Given the description of an element on the screen output the (x, y) to click on. 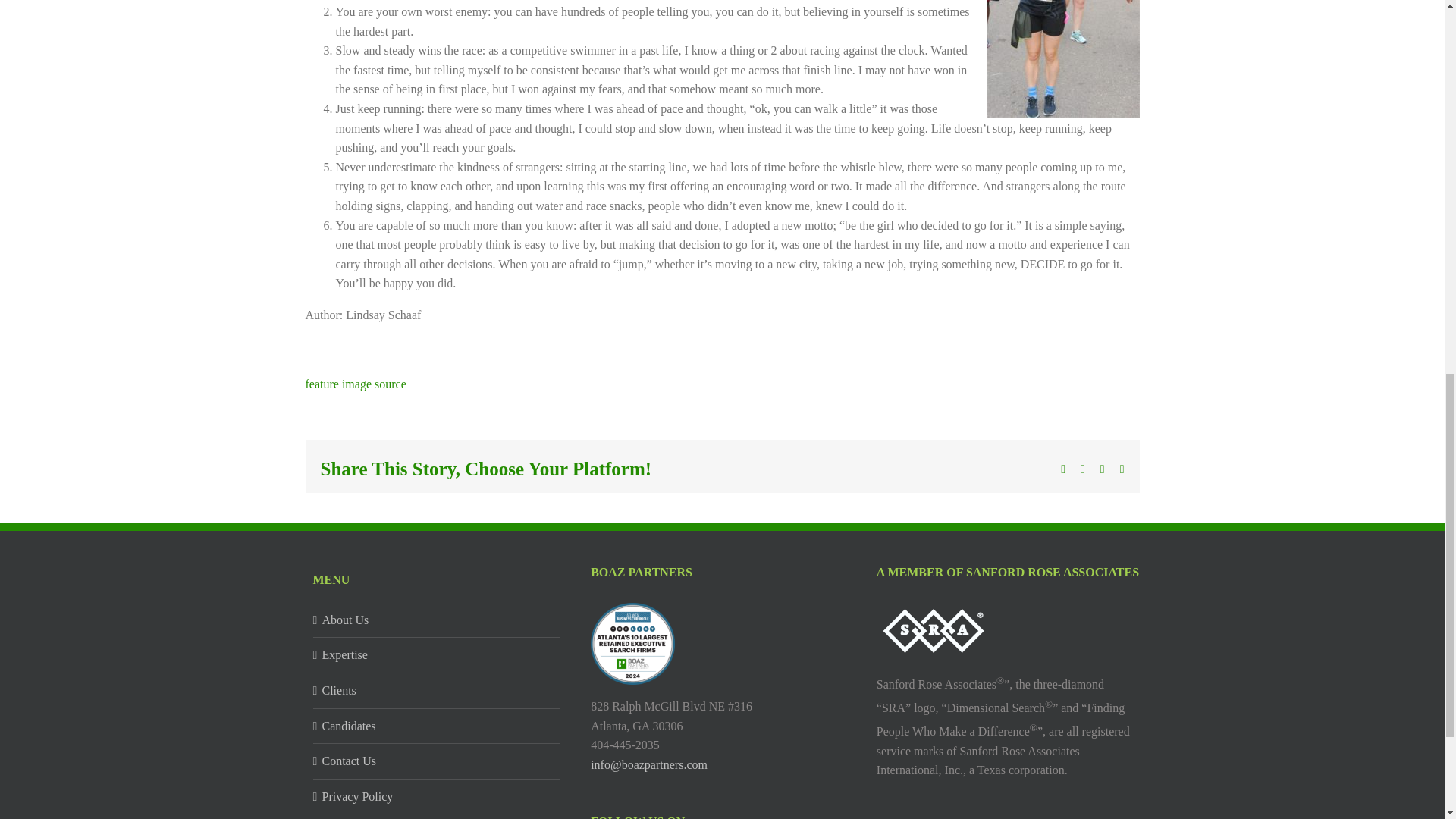
Candidates (437, 726)
feature image source (355, 383)
About Us (437, 619)
Clients (437, 690)
Contact Us (437, 761)
Expertise (437, 655)
Privacy Policy (437, 796)
